Given the description of an element on the screen output the (x, y) to click on. 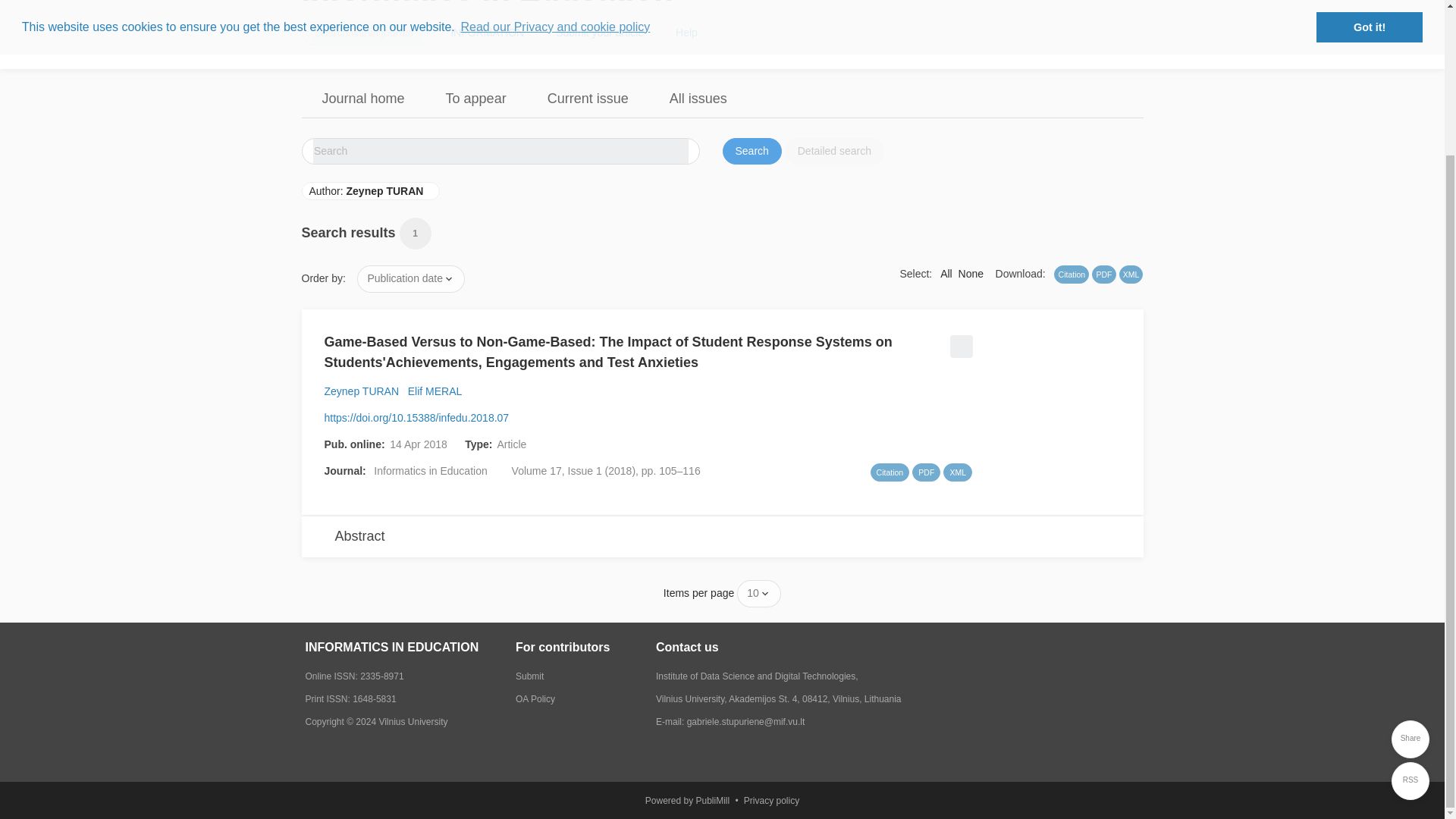
Download XML (957, 472)
Submit your article (599, 32)
None (971, 273)
Select article (959, 341)
XML (1130, 274)
Reset selection (971, 273)
To appear (476, 98)
Search for more publications by the author (434, 390)
Detailed search (833, 151)
Get article citation (890, 472)
Author: Zeynep TURAN    (371, 190)
 Citation  (890, 472)
All (946, 273)
Elif MERAL (434, 390)
Select all items (946, 273)
